Given the description of an element on the screen output the (x, y) to click on. 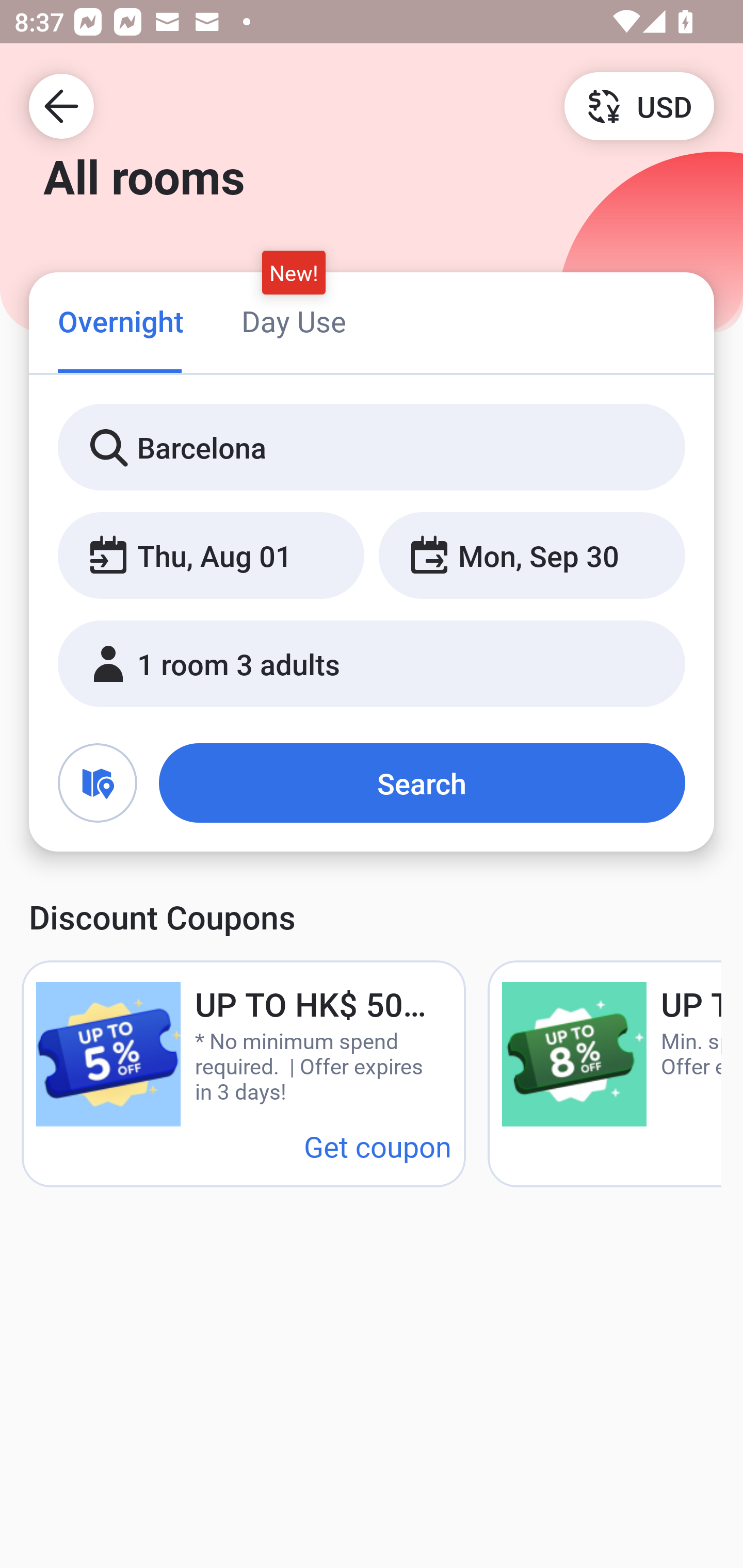
USD (639, 105)
New! (294, 272)
Day Use (293, 321)
Barcelona (371, 447)
Thu, Aug 01 (210, 555)
Mon, Sep 30 (531, 555)
1 room 3 adults (371, 663)
Search (422, 783)
Get coupon (377, 1146)
